Given the description of an element on the screen output the (x, y) to click on. 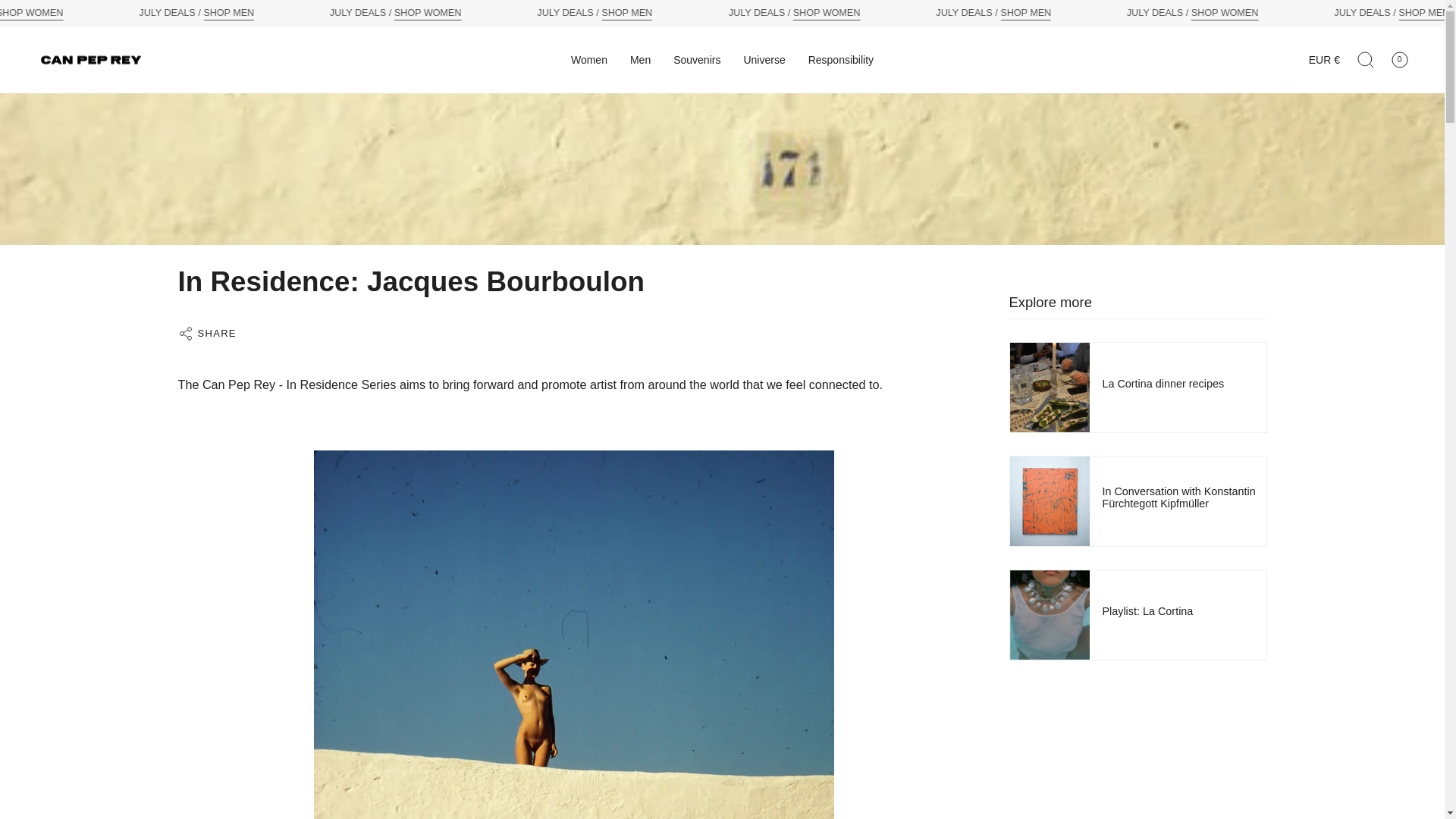
SHOP WOMEN (529, 14)
SHOP MEN (726, 14)
SHOP WOMEN (925, 14)
SHOP MEN (330, 14)
SHOP MEN (1124, 14)
SHOP WOMEN (1321, 14)
SHOP WOMEN (132, 14)
Women (588, 59)
